Given the description of an element on the screen output the (x, y) to click on. 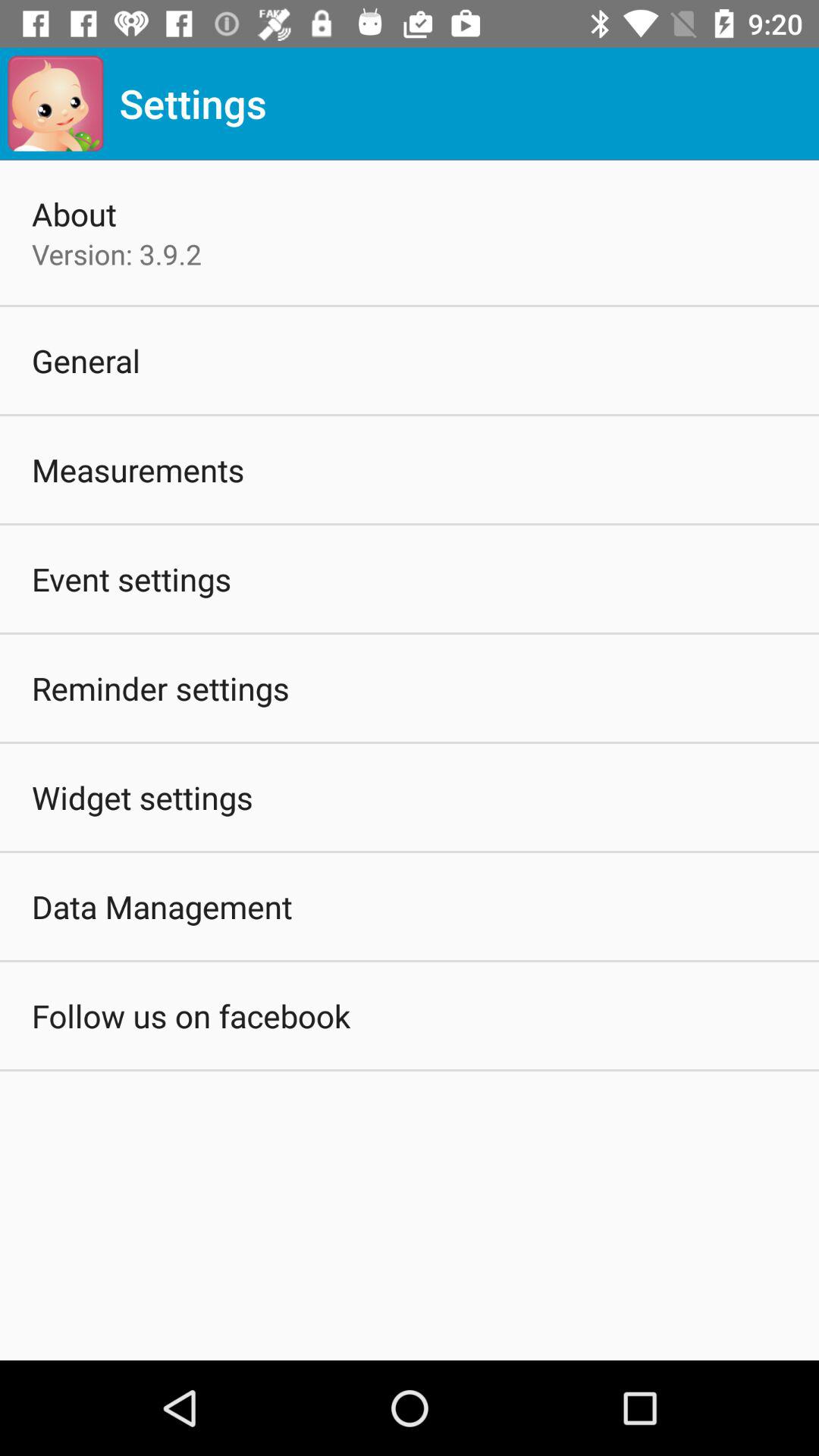
tap the app above general icon (116, 254)
